Given the description of an element on the screen output the (x, y) to click on. 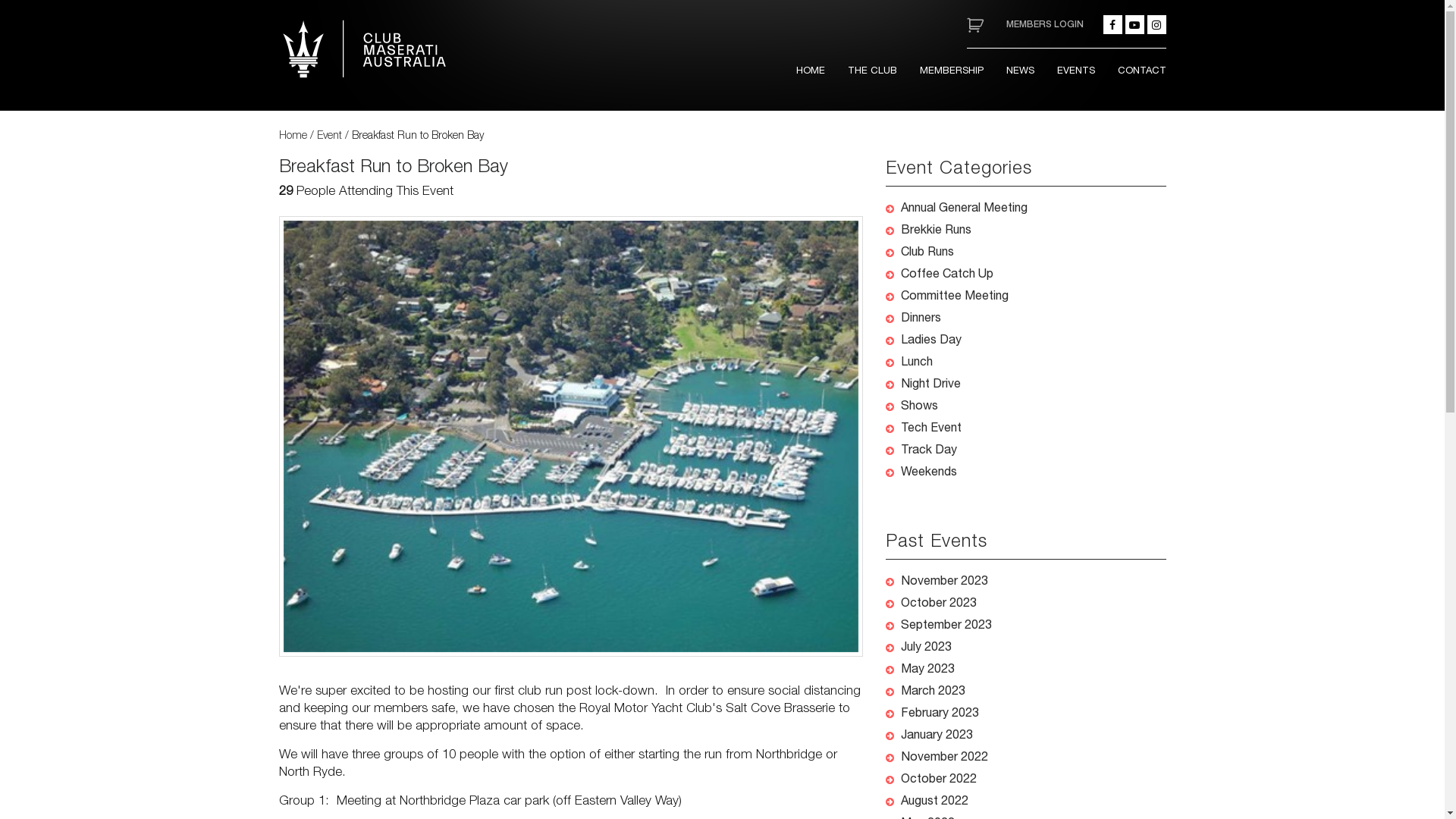
Tech Event Element type: text (930, 429)
THE CLUB Element type: text (872, 71)
January 2023 Element type: text (936, 736)
Event Element type: text (329, 136)
Breakfast Run to Broken Bay Element type: text (393, 168)
EVENTS Element type: text (1076, 71)
NEWS Element type: text (1019, 71)
Brekkie Runs Element type: text (935, 231)
View your shopping cart Element type: hover (974, 23)
February 2023 Element type: text (939, 714)
August 2022 Element type: text (934, 802)
CONTACT Element type: text (1141, 71)
July 2023 Element type: text (925, 648)
Home Element type: text (293, 136)
May 2023 Element type: text (927, 670)
Shows Element type: text (919, 407)
Dinners Element type: text (920, 319)
October 2023 Element type: text (938, 604)
Annual General Meeting Element type: text (963, 209)
HOME Element type: text (810, 71)
November 2023 Element type: text (944, 582)
MEMBERS LOGIN Element type: text (1043, 23)
Club Runs Element type: text (926, 253)
Track Day Element type: text (928, 451)
Coffee Catch Up Element type: text (946, 275)
Lunch Element type: text (916, 363)
Weekends Element type: text (928, 473)
October 2022 Element type: text (938, 780)
MEMBERSHIP Element type: text (950, 71)
November 2022 Element type: text (944, 758)
March 2023 Element type: text (932, 692)
Night Drive Element type: text (930, 385)
September 2023 Element type: text (945, 626)
Committee Meeting Element type: text (954, 297)
Ladies Day Element type: text (930, 341)
